Given the description of an element on the screen output the (x, y) to click on. 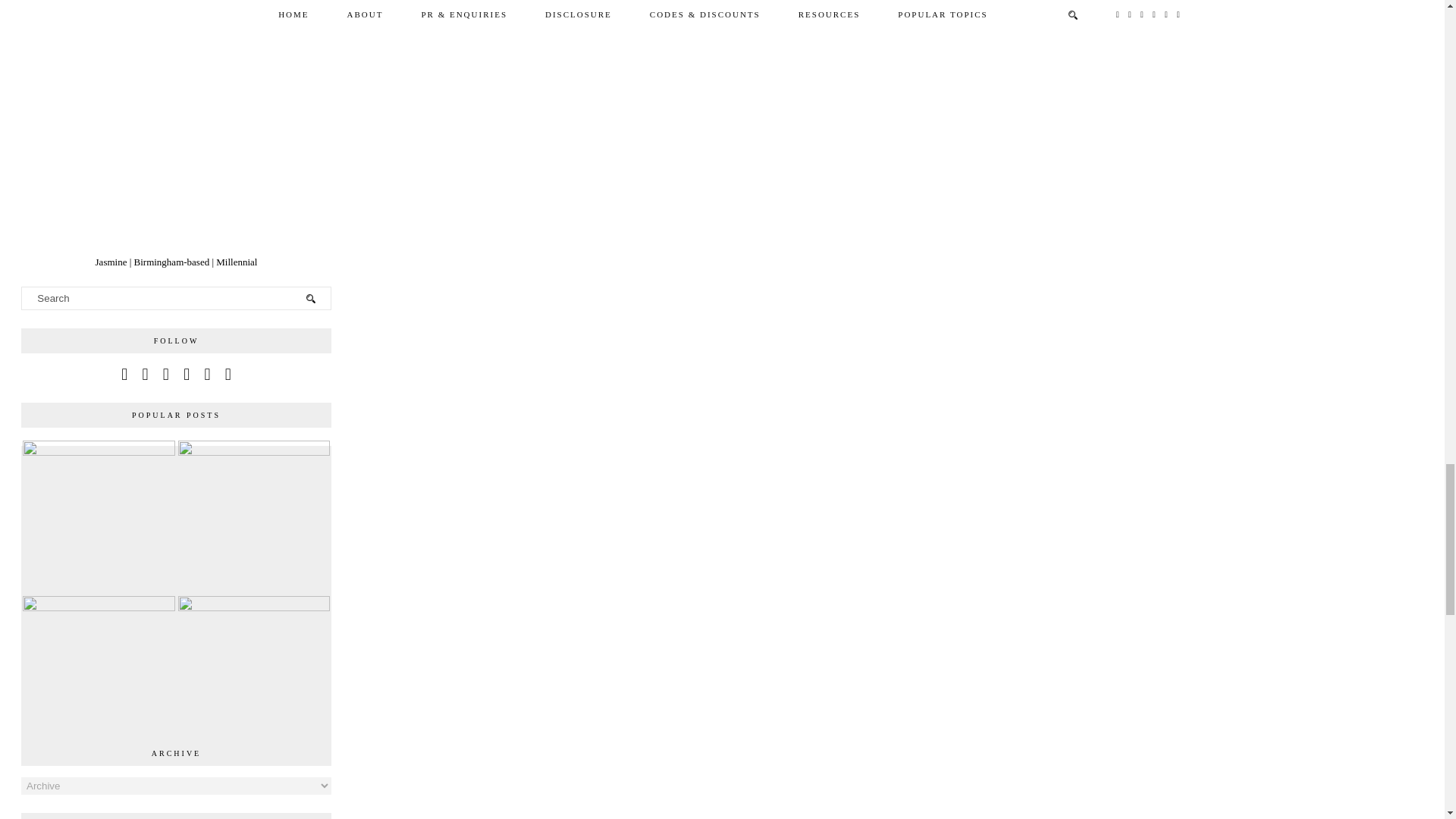
Search (175, 297)
